Given the description of an element on the screen output the (x, y) to click on. 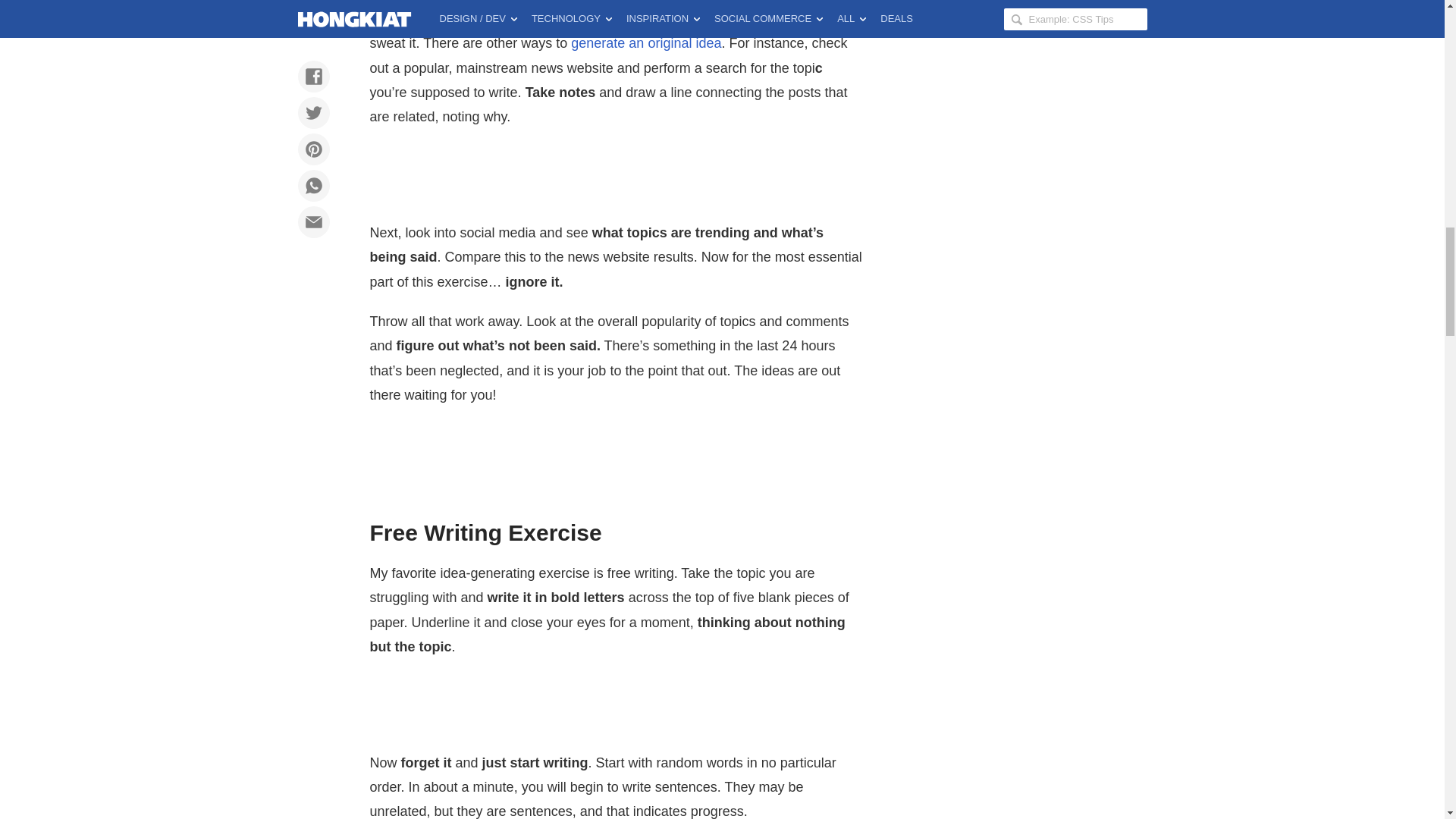
generate an original idea (645, 43)
